Given the description of an element on the screen output the (x, y) to click on. 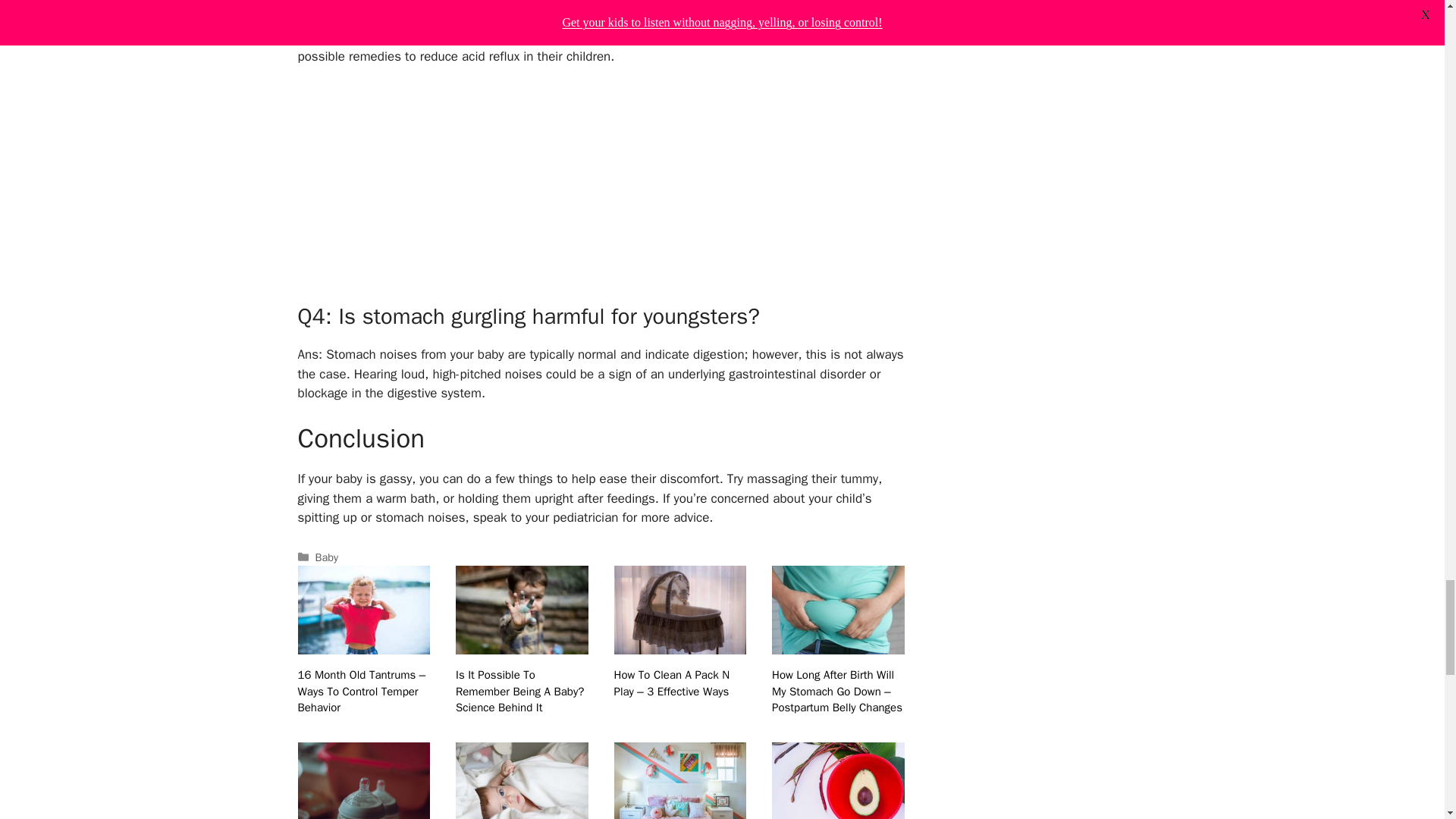
Is It Possible To Remember Being A Baby? Science Behind It (521, 643)
